Given the description of an element on the screen output the (x, y) to click on. 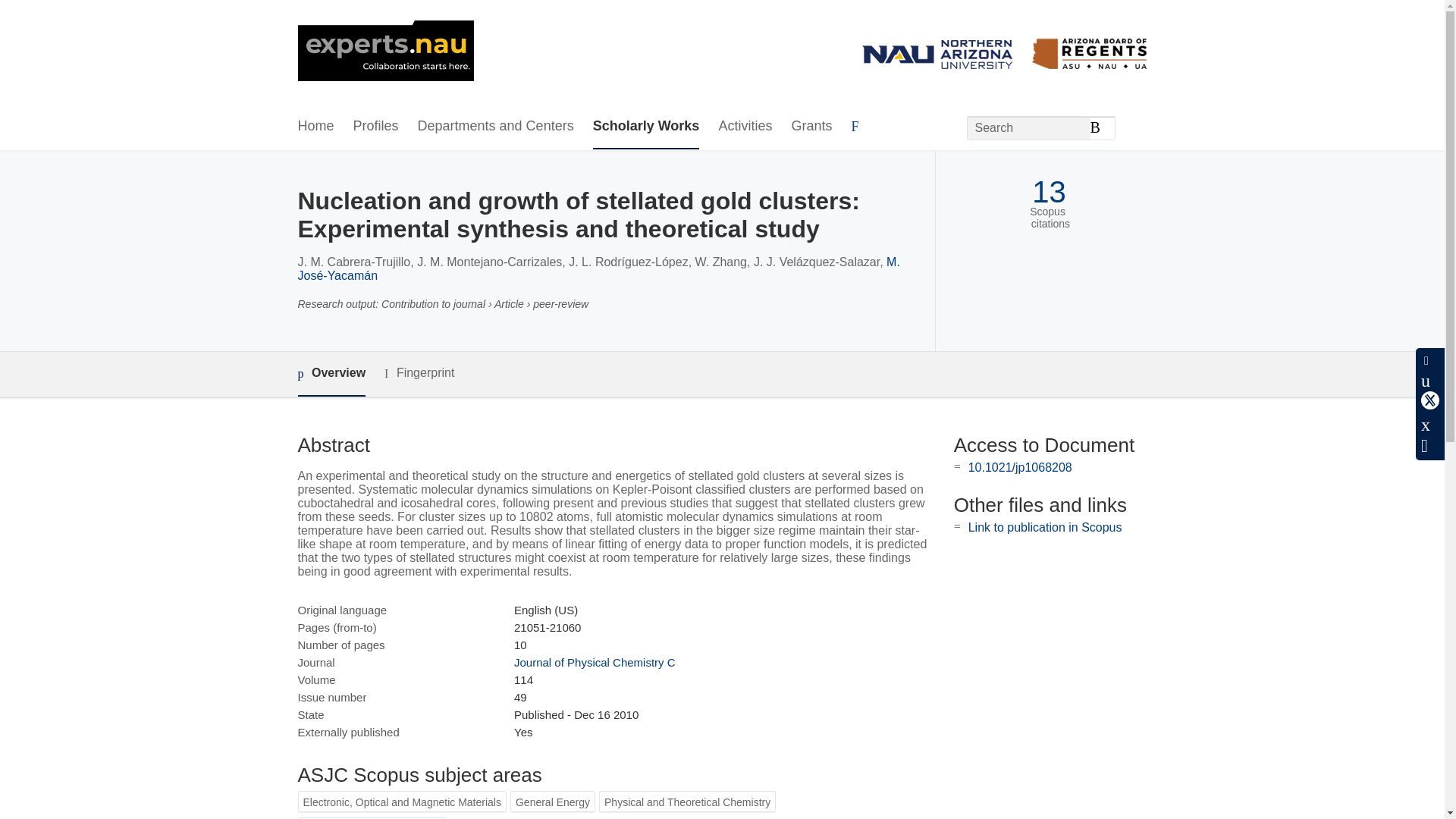
Profiles (375, 126)
Northern Arizona University Home (385, 52)
Activities (744, 126)
Overview (331, 374)
13 (1048, 192)
Home (315, 126)
Scholarly Works (646, 126)
Link to publication in Scopus (1045, 526)
Journal of Physical Chemistry C (594, 662)
Departments and Centers (495, 126)
Fingerprint (419, 373)
Grants (810, 126)
